Given the description of an element on the screen output the (x, y) to click on. 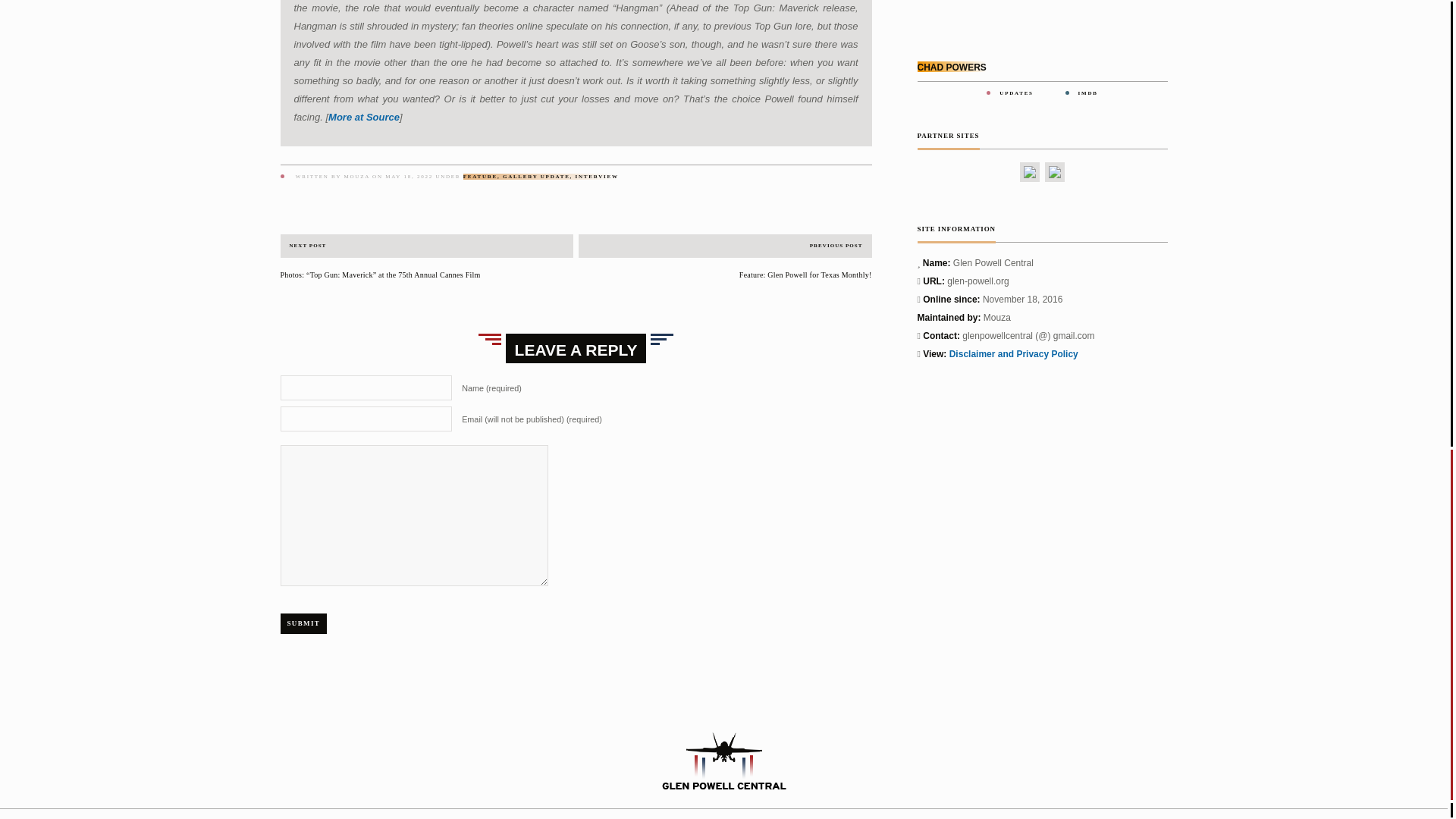
IMDB (1087, 93)
Disclaimer and Privacy Policy (1013, 353)
Updates (1015, 93)
UPDATES (1015, 93)
INTERVIEW (596, 176)
FEATURE (480, 176)
IMDb (1087, 93)
More at Source (363, 116)
Feature: Glen Powell for Texas Monthly! (725, 275)
Submit (304, 623)
Submit (304, 623)
GALLERY UPDATE (536, 176)
